Given the description of an element on the screen output the (x, y) to click on. 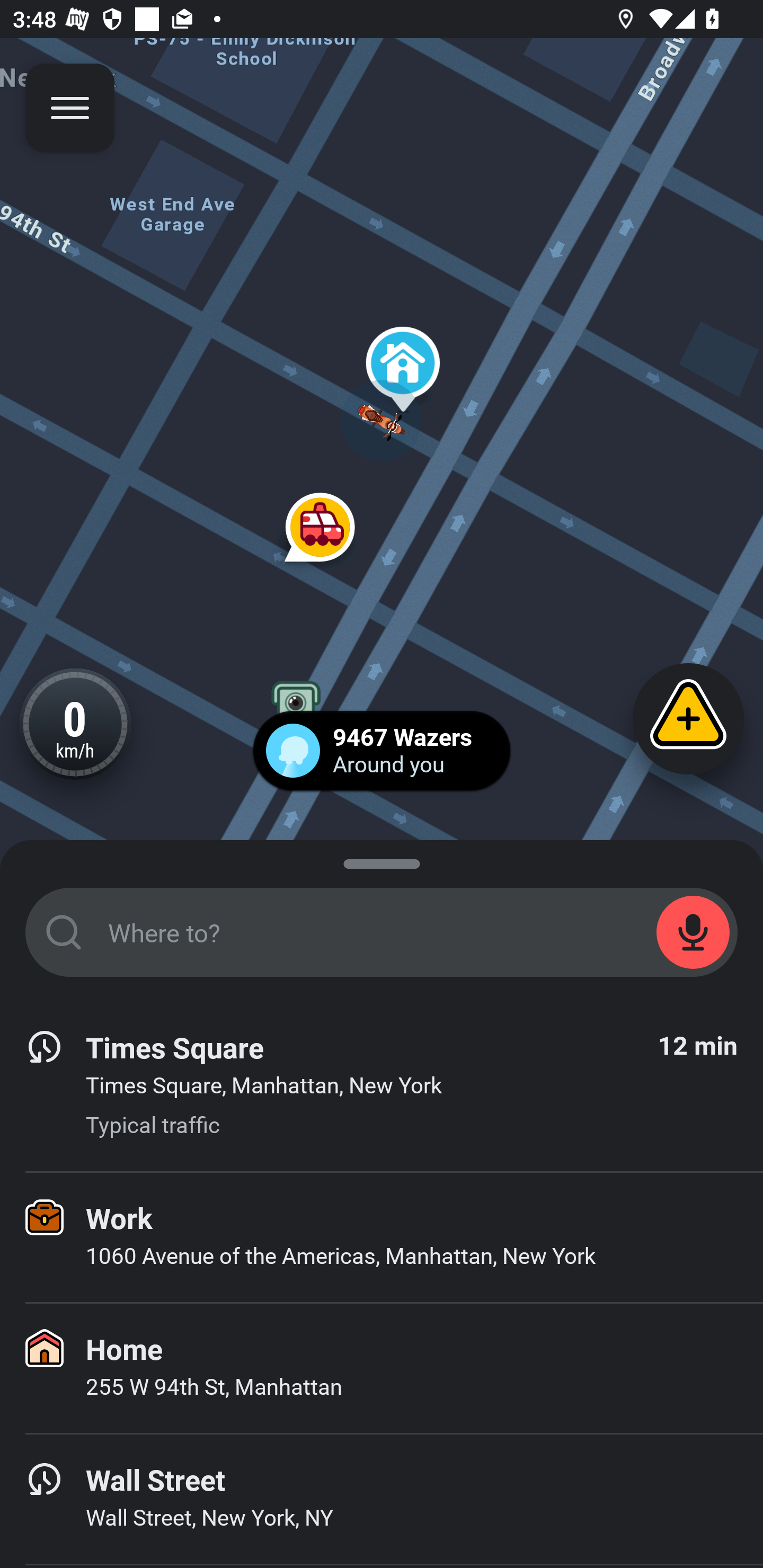
SUGGESTIONS_SHEET_DRAG_HANDLE (381, 860)
START_STATE_SEARCH_FIELD Where to? (381, 931)
Home 255 W 94th St, Manhattan (381, 1368)
Wall Street Wall Street, New York, NY (381, 1498)
